Given the description of an element on the screen output the (x, y) to click on. 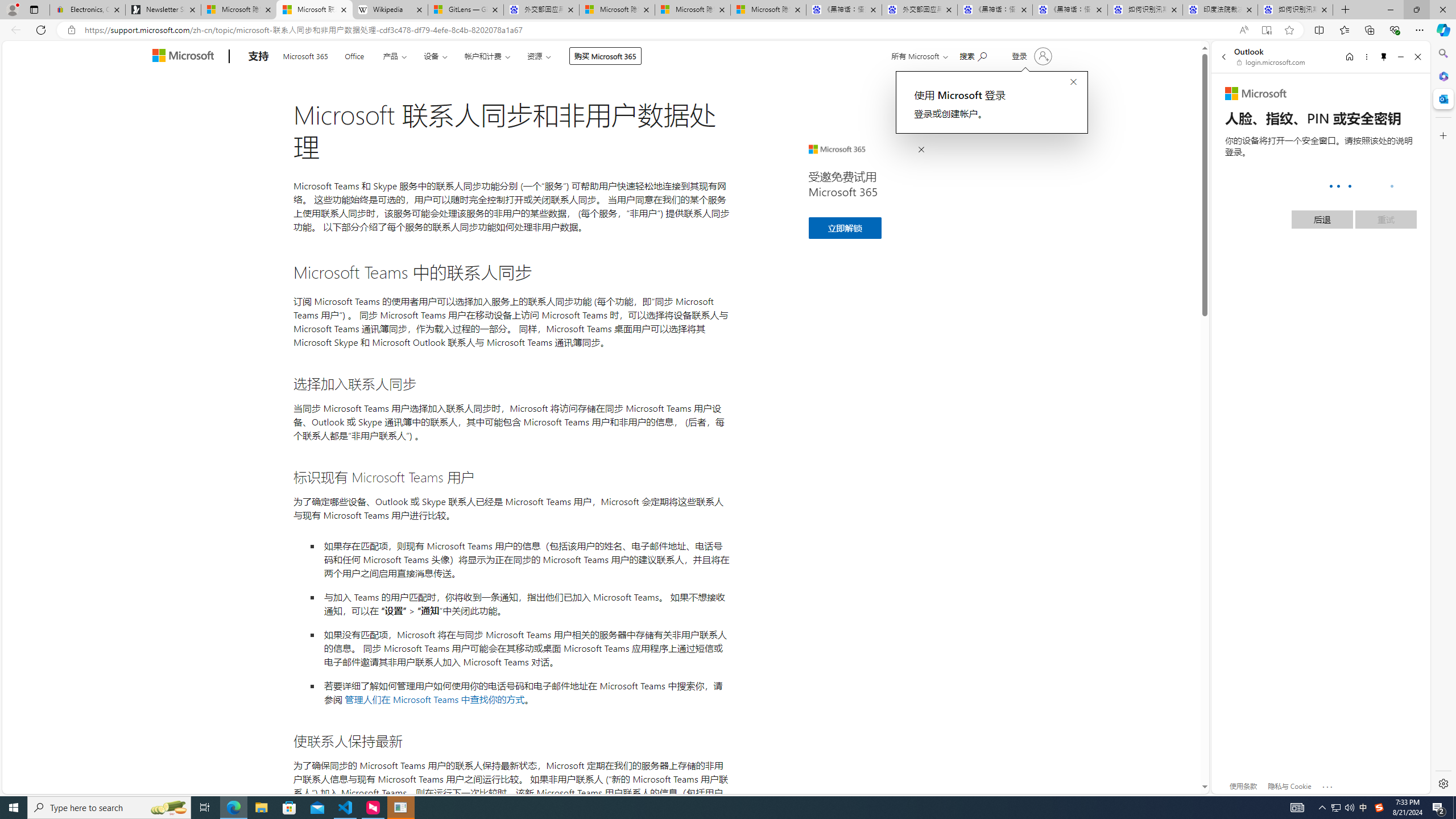
Newsletter Sign Up (162, 9)
Microsoft (184, 56)
